Given the description of an element on the screen output the (x, y) to click on. 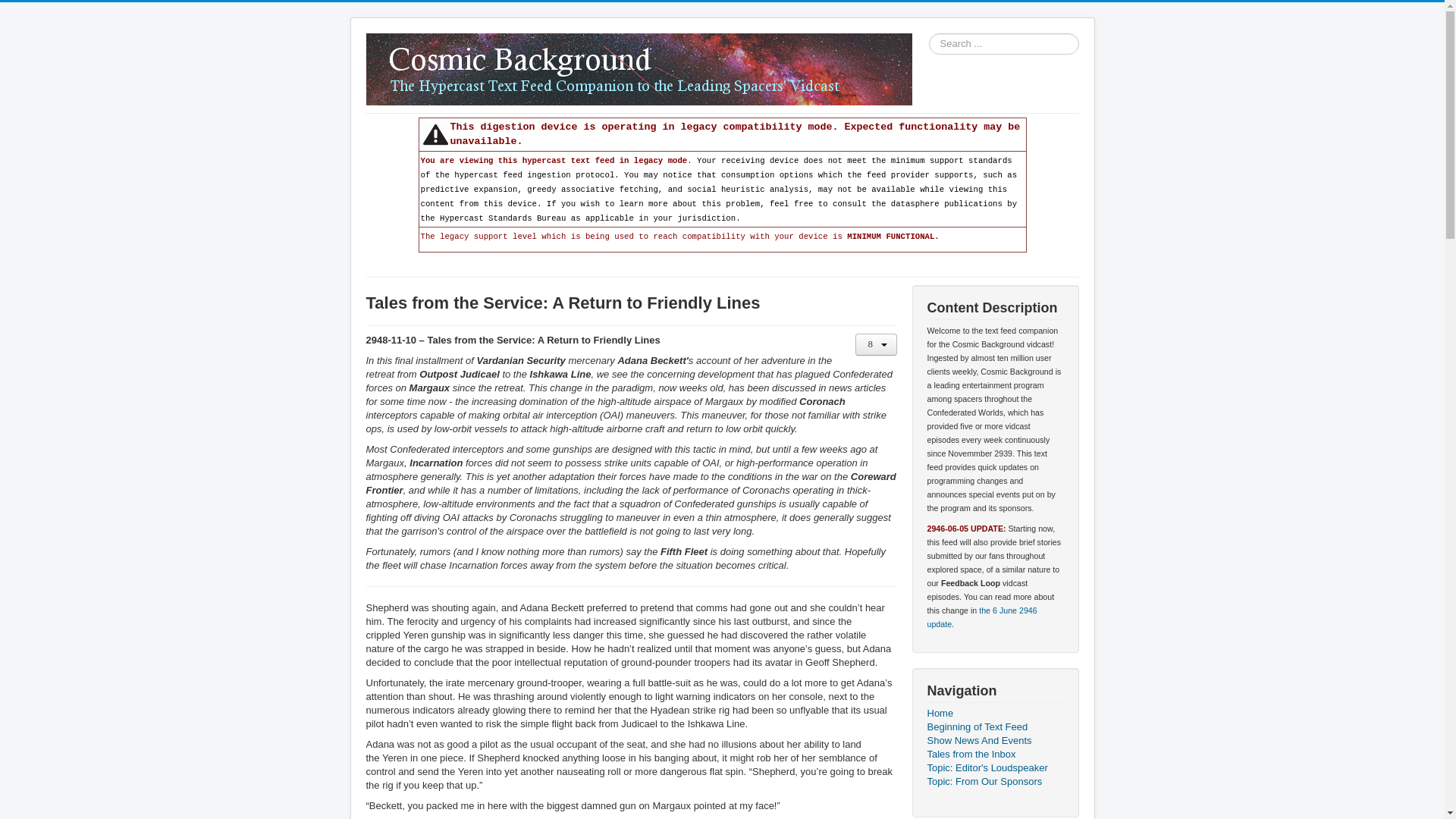
Tales from the Inbox (994, 754)
Topic: From Our Sponsors (994, 781)
Show News And Events (994, 740)
Beginning of Text Feed (994, 726)
Home (994, 713)
Topic: Editor's Loudspeaker (994, 767)
the 6 June 2946 update (981, 617)
